Given the description of an element on the screen output the (x, y) to click on. 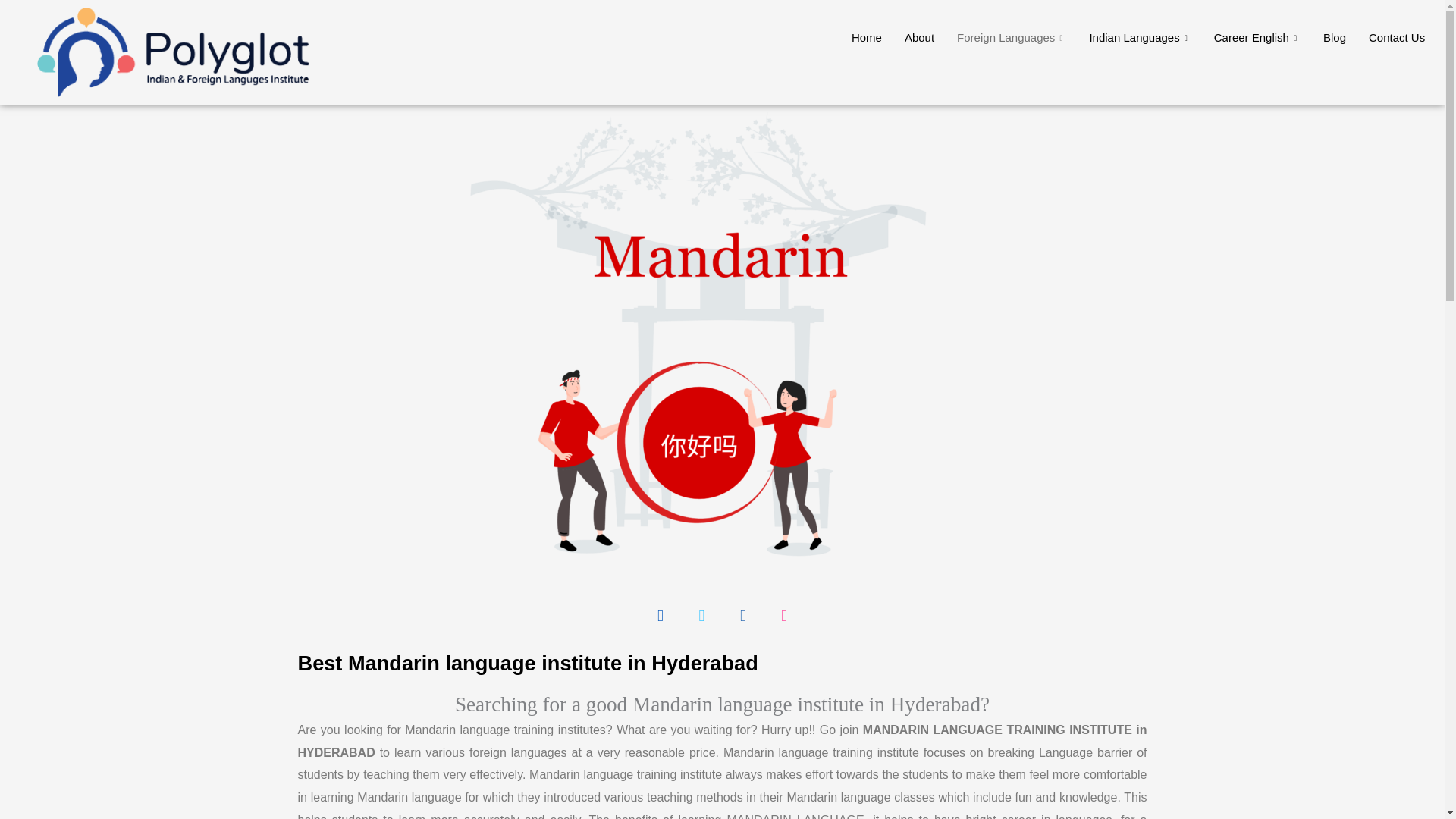
Indian Languages (1139, 37)
Career English (1256, 37)
Foreign Languages (1010, 37)
Contact Us (1395, 37)
